Given the description of an element on the screen output the (x, y) to click on. 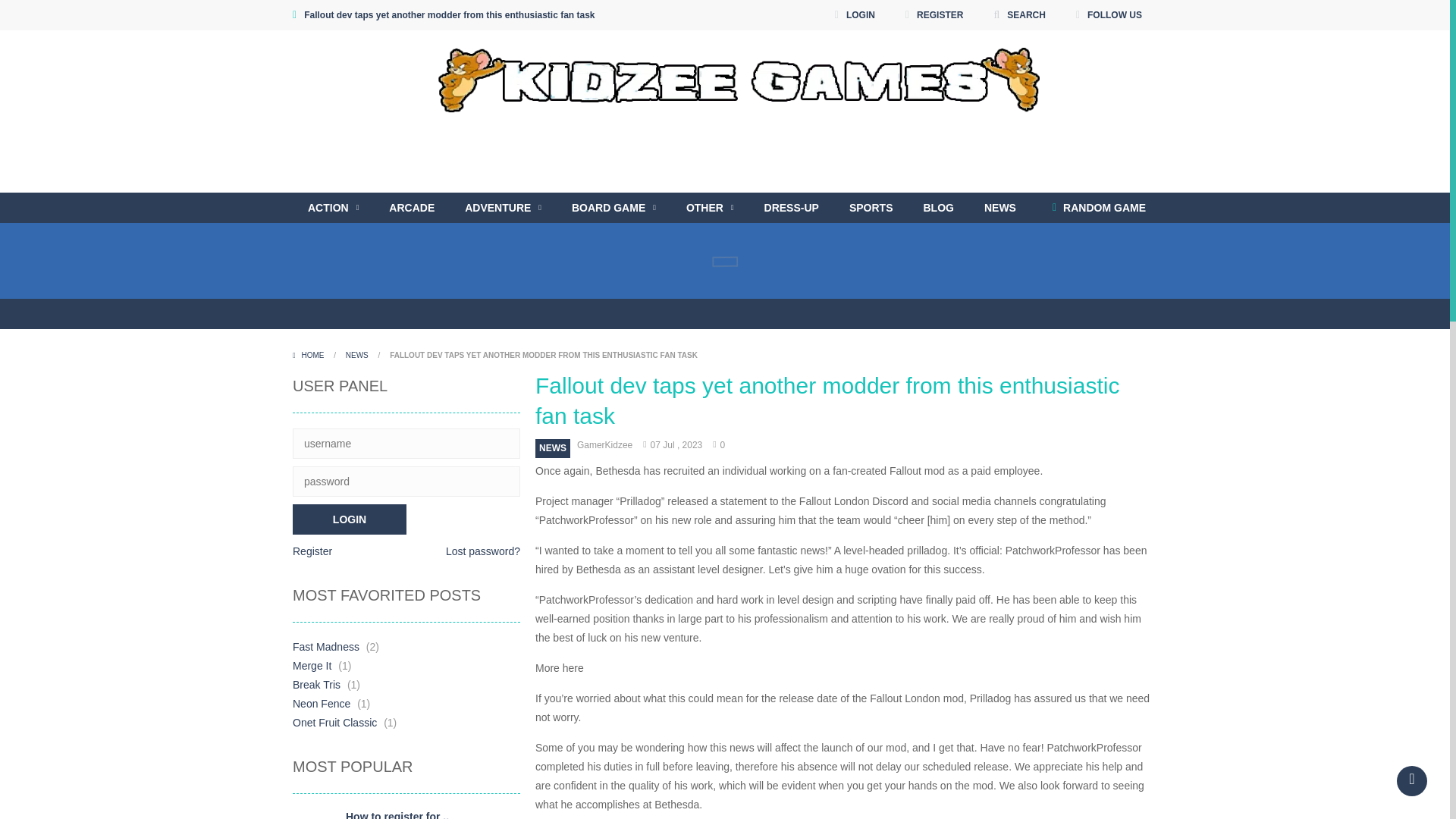
REGISTER (933, 15)
KidzeeGames.com (724, 76)
NEWS (999, 207)
SPORTS (871, 207)
ARCADE (411, 207)
DRESS-UP (791, 207)
ACTION (333, 207)
Play a random game! (1099, 207)
Login (349, 519)
BOARD GAME (613, 207)
